Given the description of an element on the screen output the (x, y) to click on. 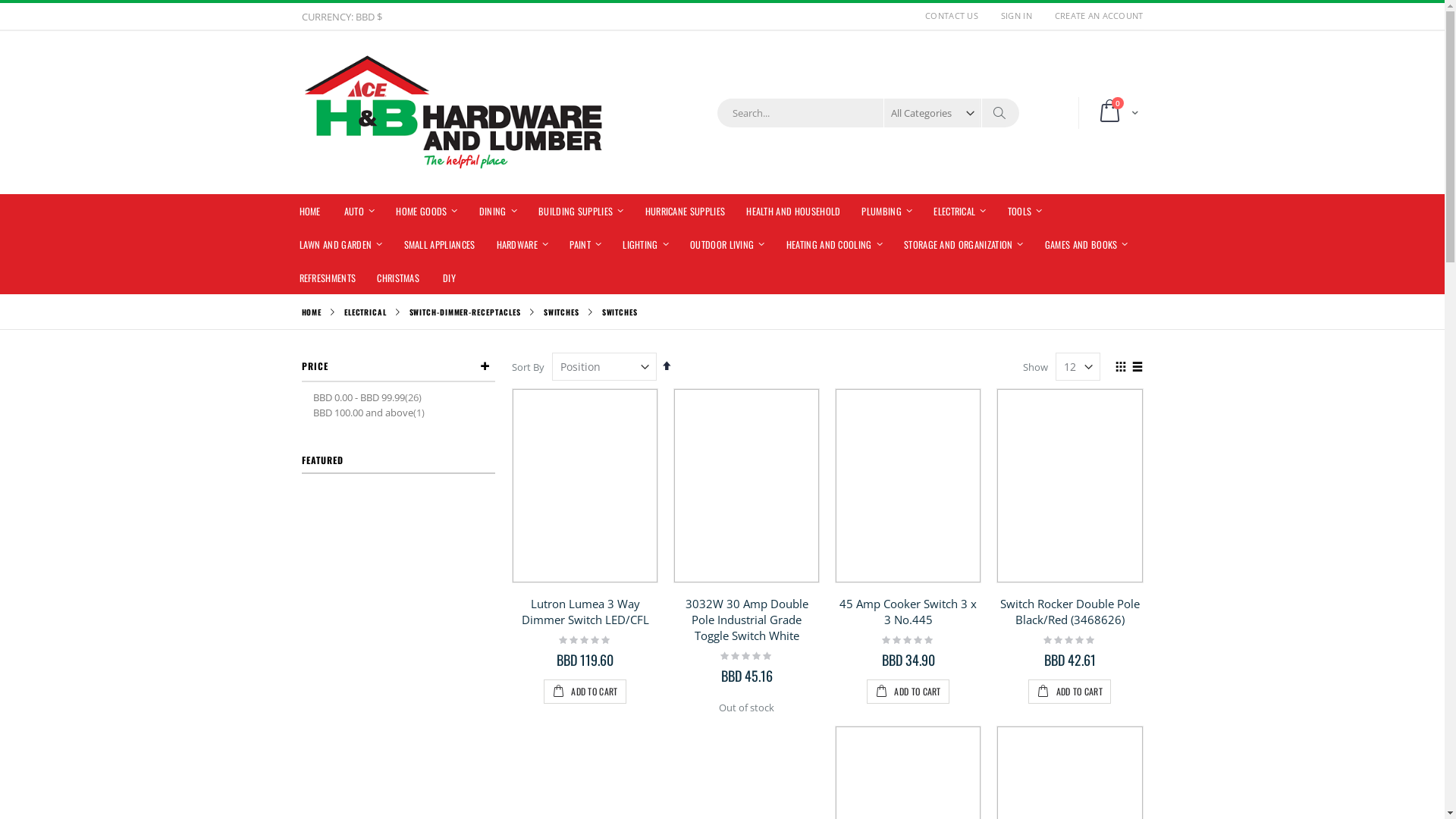
PAINT Element type: text (585, 243)
CONTACT US Element type: text (951, 15)
HURRICANE SUPPLIES Element type: text (685, 210)
List Element type: text (1136, 367)
45 Amp Cooker Switch 3 x 3 No.445 Element type: text (907, 611)
Search Element type: text (997, 112)
Lutron Lumea 3 Way Dimmer Switch LED/CFL Element type: text (585, 611)
LAWN AND GARDEN Element type: text (340, 243)
TOOLS Element type: text (1024, 210)
GAMES AND BOOKS Element type: text (1086, 243)
HEATING AND COOLING Element type: text (834, 243)
LIGHTING Element type: text (645, 243)
DINING Element type: text (498, 210)
HOME GOODS Element type: text (426, 210)
Switch Rocker Double Pole Black/Red (3468626) Element type: text (1069, 611)
SWITCH-DIMMER-RECEPTACLES Element type: text (465, 312)
CHRISTMAS Element type: text (397, 276)
SWITCHES Element type: text (561, 312)
ELECTRICAL Element type: text (959, 210)
Cart
0 Element type: text (1115, 112)
BBD 0.00 - BBD 99.9926
item Element type: text (368, 397)
Skip to Content Element type: text (300, 9)
ADD TO CART Element type: text (1069, 691)
SMALL APPLIANCES Element type: text (438, 243)
HEALTH AND HOUSEHOLD Element type: text (793, 210)
STORAGE AND ORGANIZATION Element type: text (963, 243)
HARDWARE Element type: text (521, 243)
HOME Element type: text (309, 210)
AUTO Element type: text (359, 210)
ADD TO CART Element type: text (584, 691)
DIY Element type: text (448, 276)
PLUMBING Element type: text (886, 210)
BBD 100.00 and above1
item Element type: text (369, 412)
BUILDING SUPPLIES Element type: text (581, 210)
HOME Element type: text (311, 311)
SIGN IN Element type: text (1016, 15)
ELECTRICAL Element type: text (365, 312)
REFRESHMENTS Element type: text (326, 276)
CREATE AN ACCOUNT Element type: text (1093, 15)
OUTDOOR LIVING Element type: text (727, 243)
ADD TO CART Element type: text (907, 691)
Set Descending Direction Element type: text (666, 365)
